Given the description of an element on the screen output the (x, y) to click on. 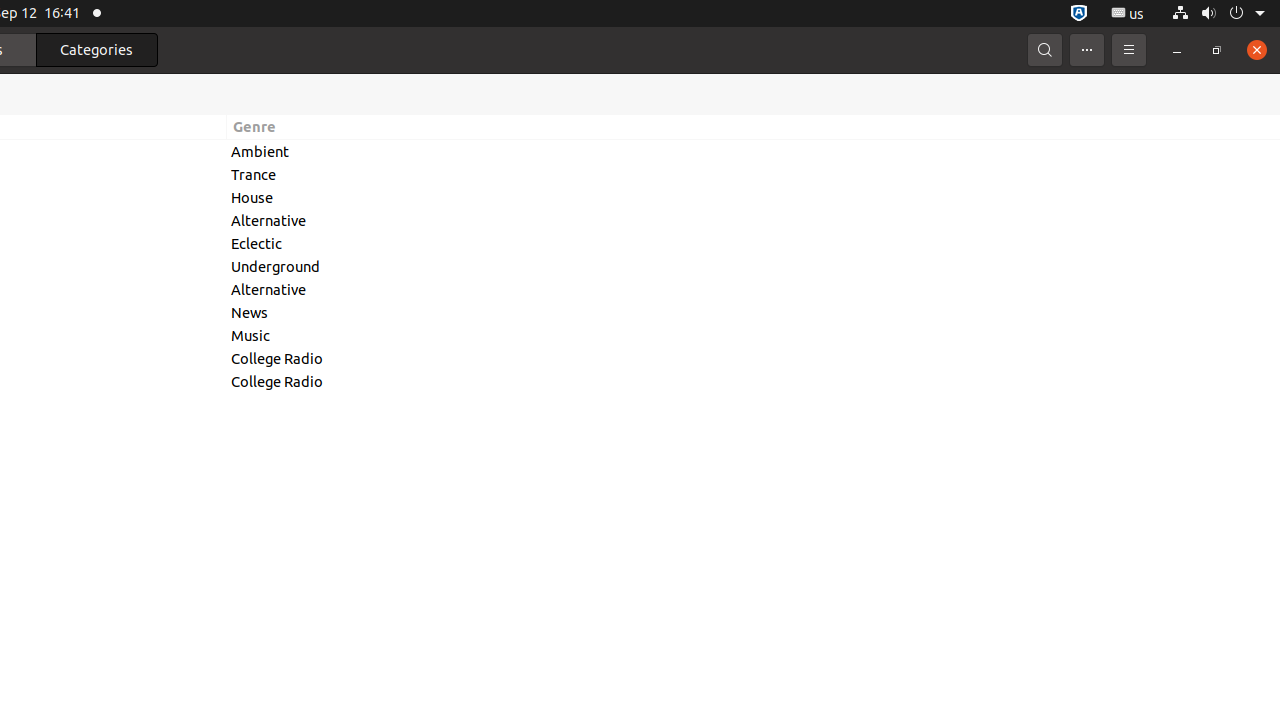
Trance Element type: table-cell (753, 174)
Close Element type: push-button (1257, 50)
Minimize Element type: push-button (1177, 50)
Alternative Element type: table-cell (753, 220)
News Element type: table-cell (753, 312)
